Given the description of an element on the screen output the (x, y) to click on. 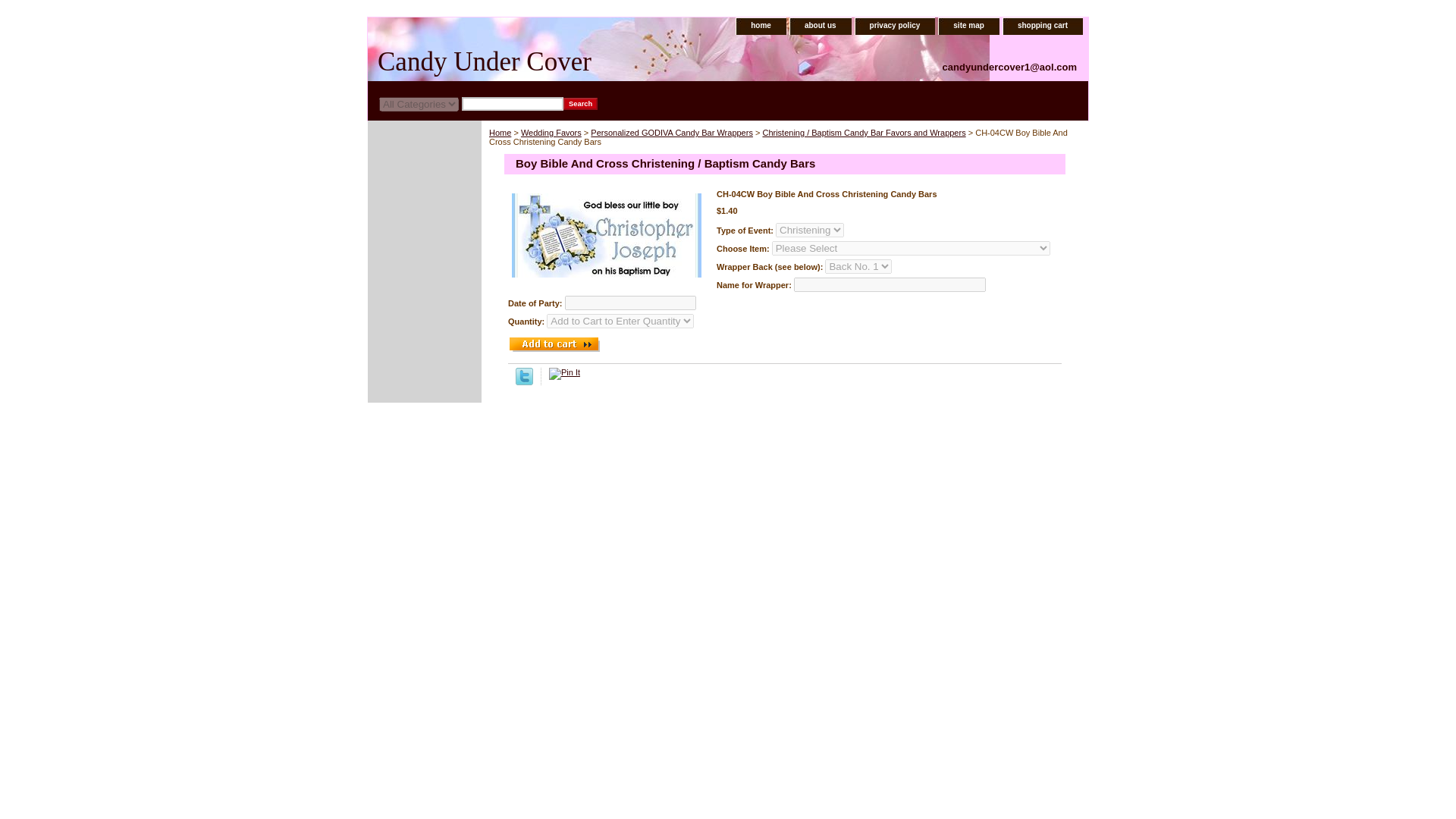
CH-04CW Boy Bible And Cross Christening Candy Bars (606, 235)
home (760, 26)
Add to cart (553, 343)
Search (579, 103)
Search (579, 103)
Pin It (563, 373)
Candy Under Cover (557, 61)
privacy policy (895, 26)
site map (967, 26)
Home (500, 132)
